Given the description of an element on the screen output the (x, y) to click on. 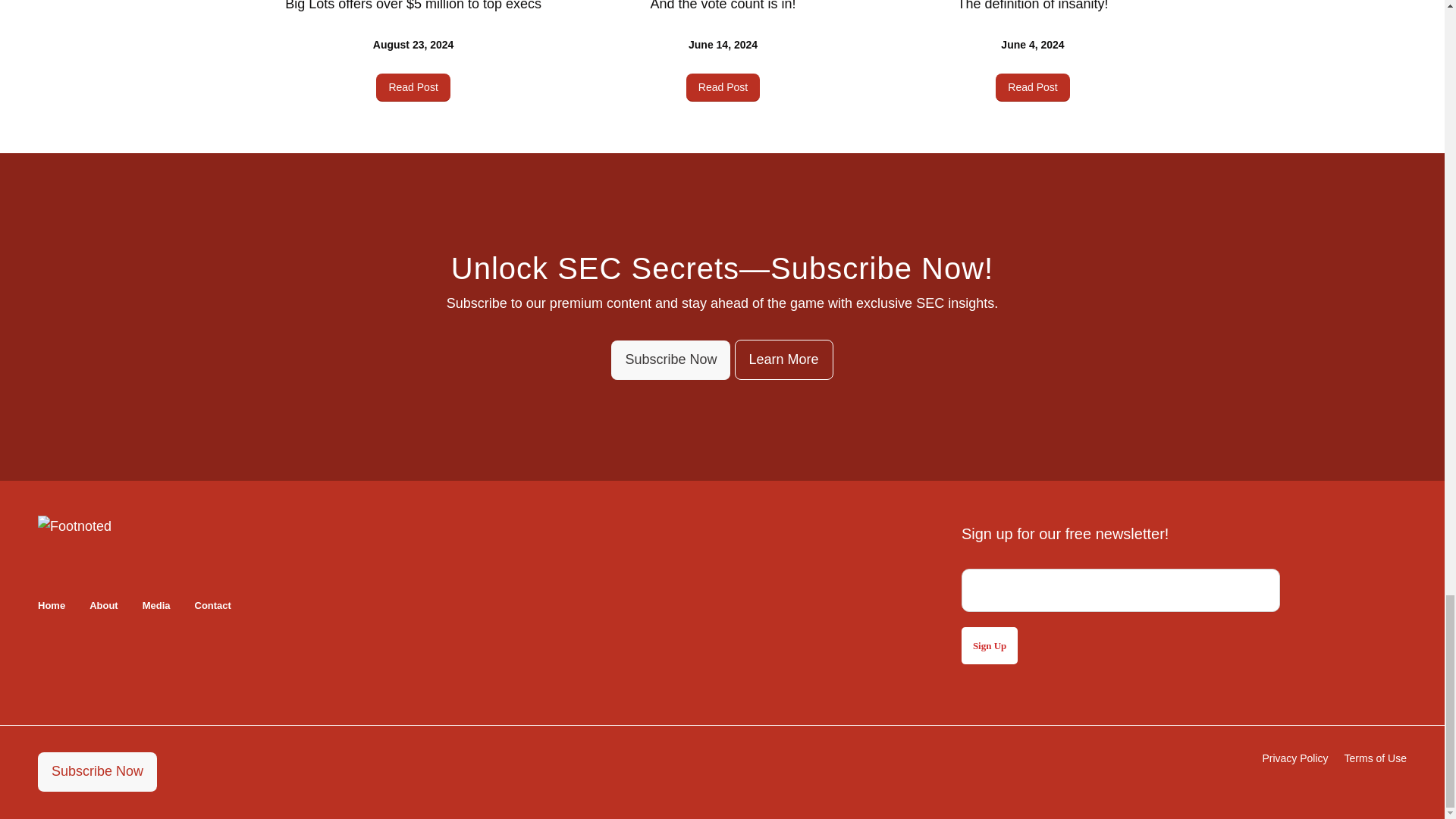
The definition of insanity! (1032, 5)
Home (51, 605)
Email Address (1119, 589)
Learn More (782, 359)
Read Post (722, 86)
Subscribe Now (97, 772)
Read Post (1031, 86)
Media (156, 605)
Subscribe Now (670, 360)
Contact (213, 605)
